Given the description of an element on the screen output the (x, y) to click on. 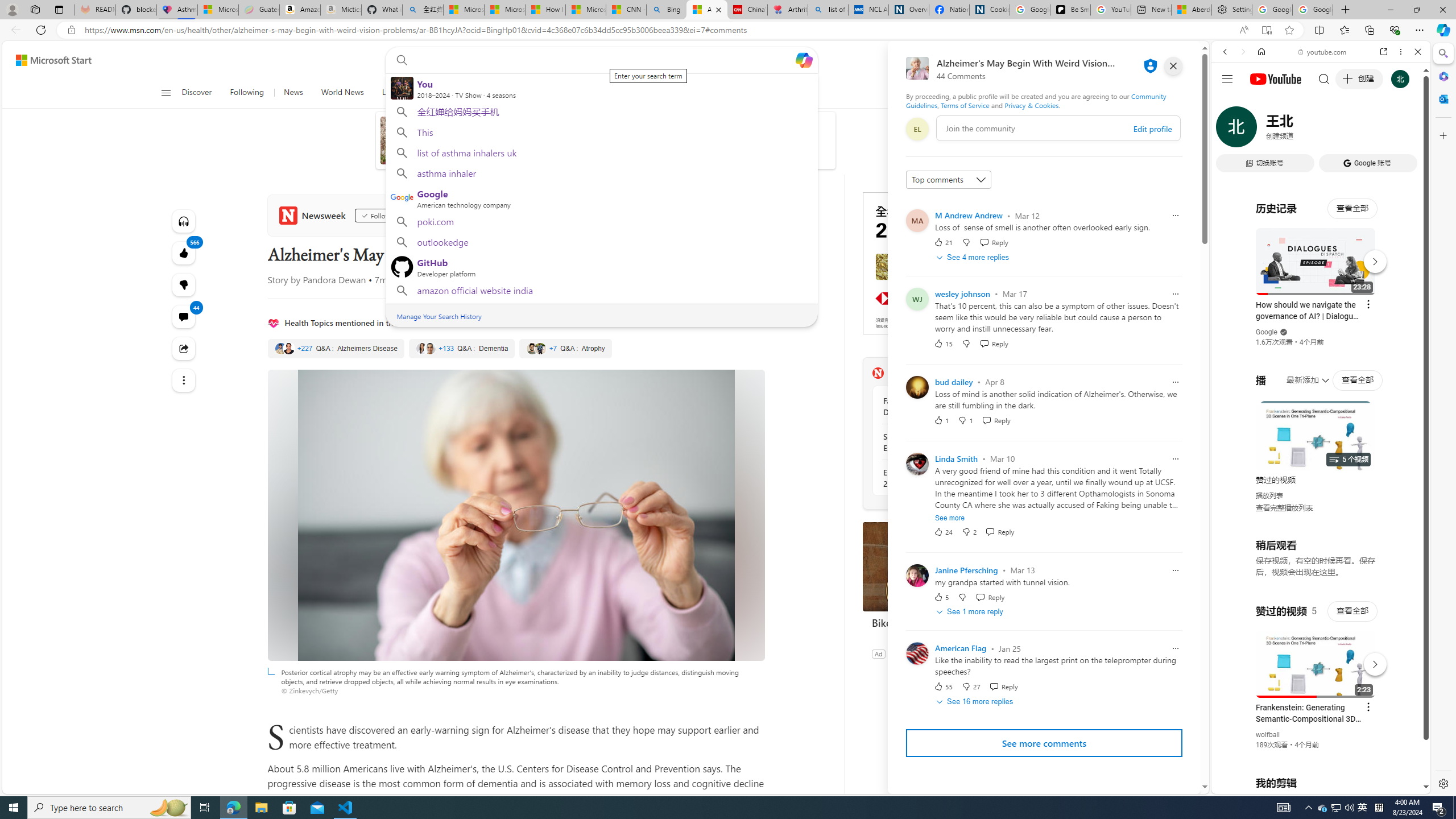
Class: b_serphb (1404, 130)
Be Smart | creating Science videos | Patreon (1069, 9)
Search Filter, VIDEOS (1300, 129)
Linda Smith (956, 458)
American Flag (960, 648)
Bike Gurus (947, 622)
Report comment (1175, 648)
Enter Immersive Reader (F9) (1266, 29)
Aberdeen, Hong Kong SAR hourly forecast | Microsoft Weather (1191, 9)
